Given the description of an element on the screen output the (x, y) to click on. 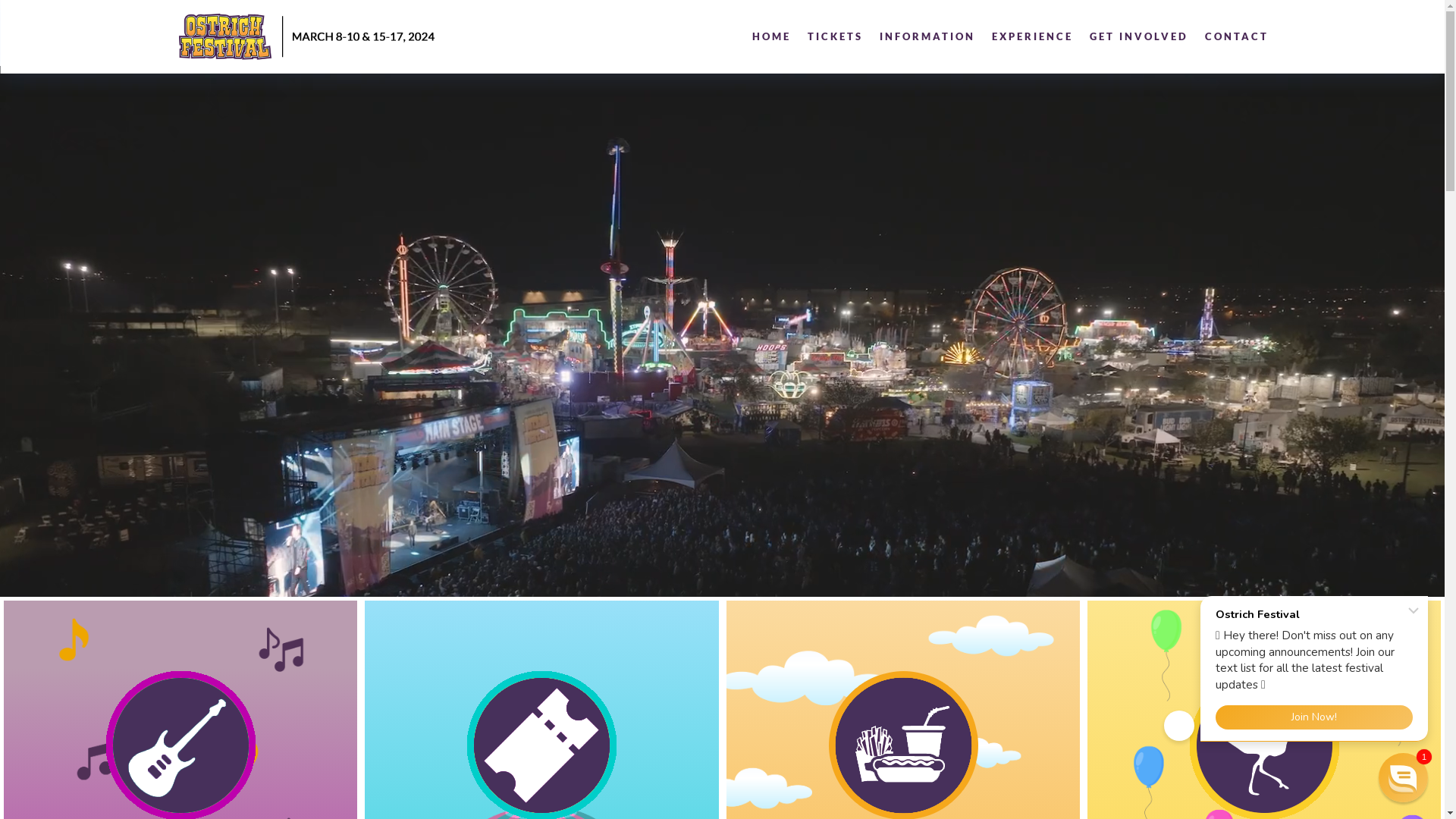
CONTACT Element type: text (1235, 36)
Re:amaze Chat Element type: hover (1298, 665)
INFORMATION Element type: text (927, 36)
GET INVOLVED Element type: text (1137, 36)
TICKETS Element type: text (834, 36)
HOME Element type: text (771, 36)
EXPERIENCE Element type: text (1032, 36)
